Given the description of an element on the screen output the (x, y) to click on. 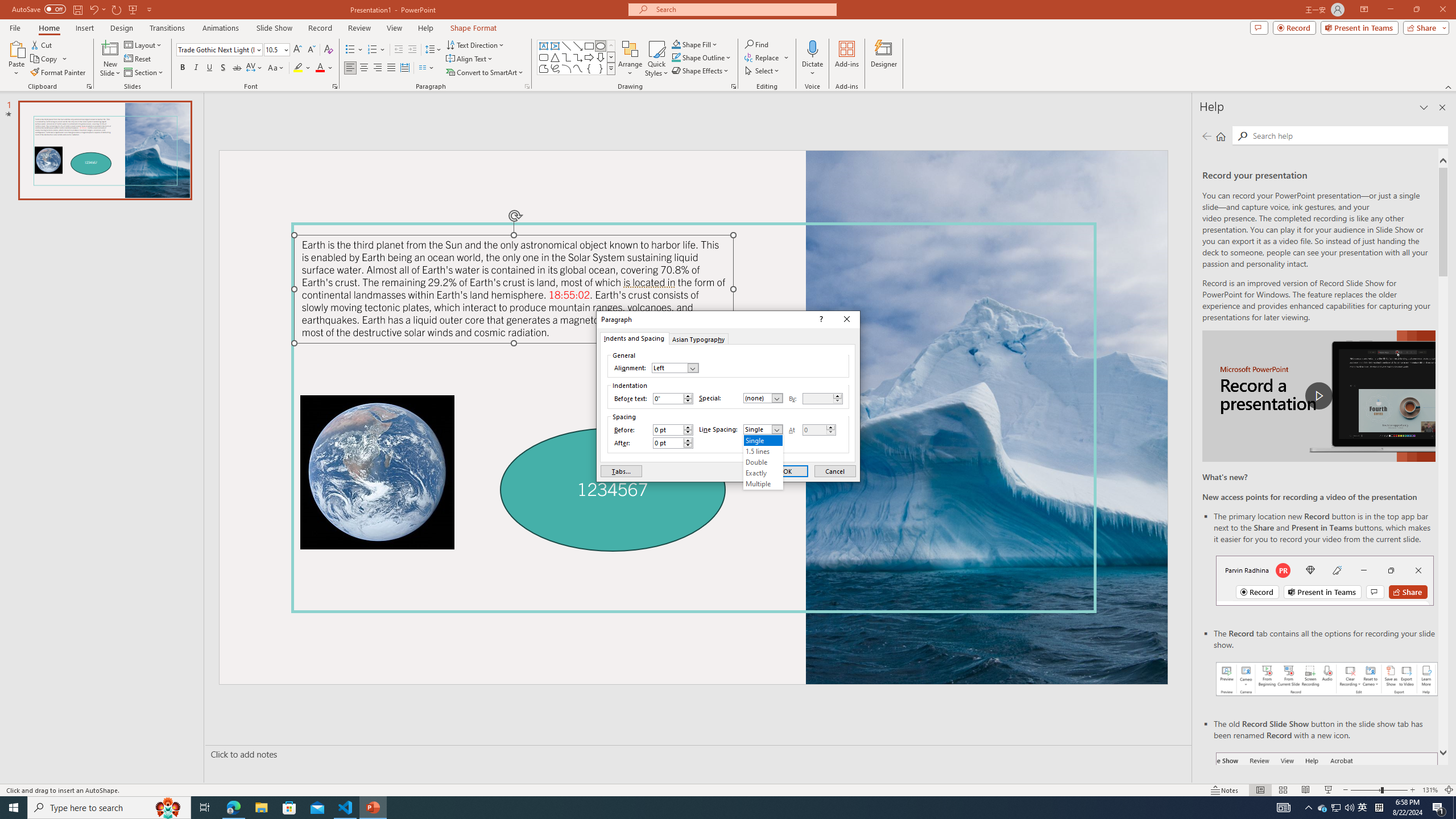
play Record a Presentation (1318, 395)
